Given the description of an element on the screen output the (x, y) to click on. 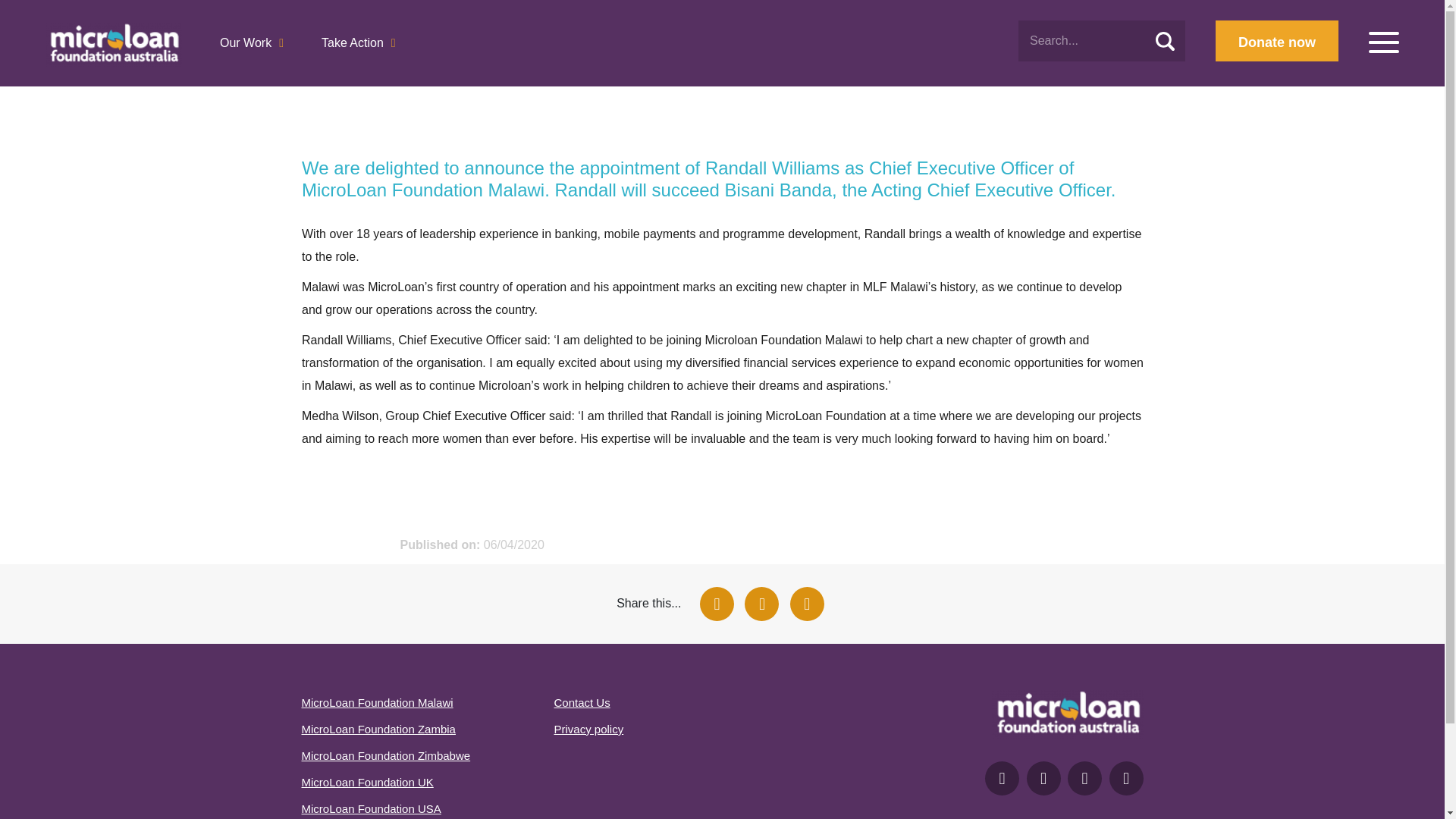
Our Work (251, 46)
Take Action (358, 46)
